Given the description of an element on the screen output the (x, y) to click on. 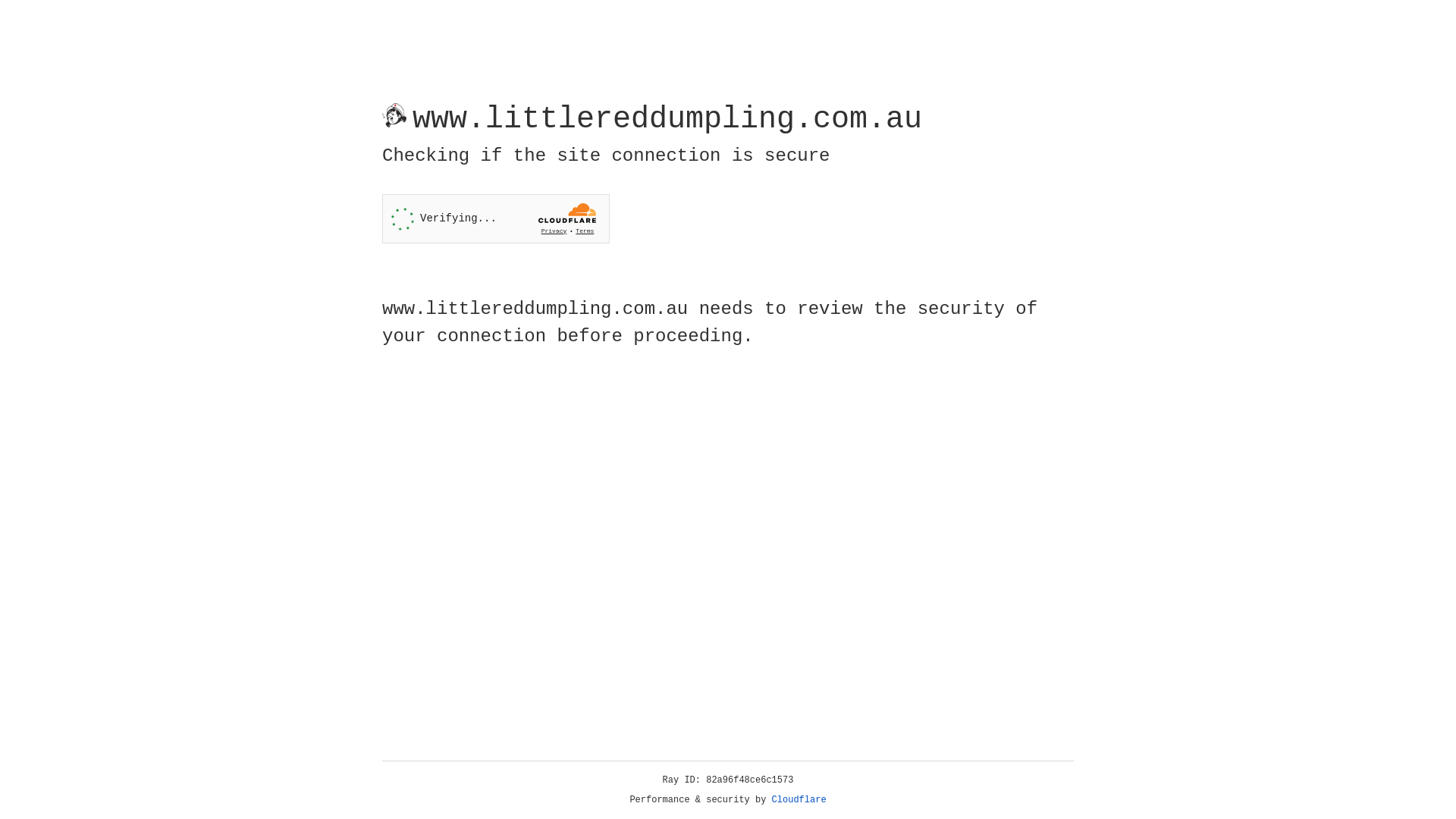
Cloudflare Element type: text (798, 799)
Widget containing a Cloudflare security challenge Element type: hover (495, 218)
